Given the description of an element on the screen output the (x, y) to click on. 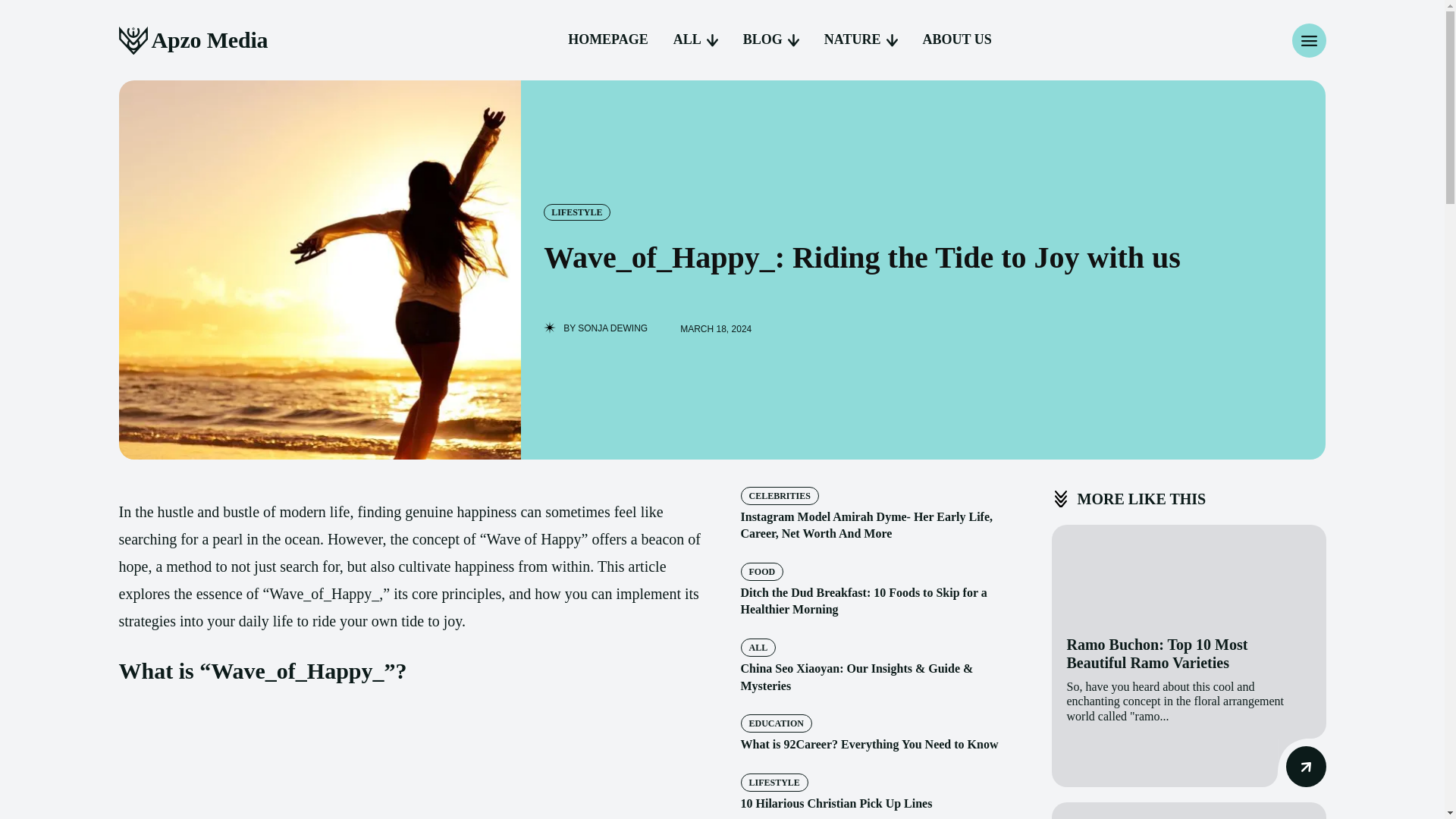
Apzo Media (192, 40)
HOMEPAGE (608, 39)
Apzo Media (192, 40)
ALL (695, 39)
